Given the description of an element on the screen output the (x, y) to click on. 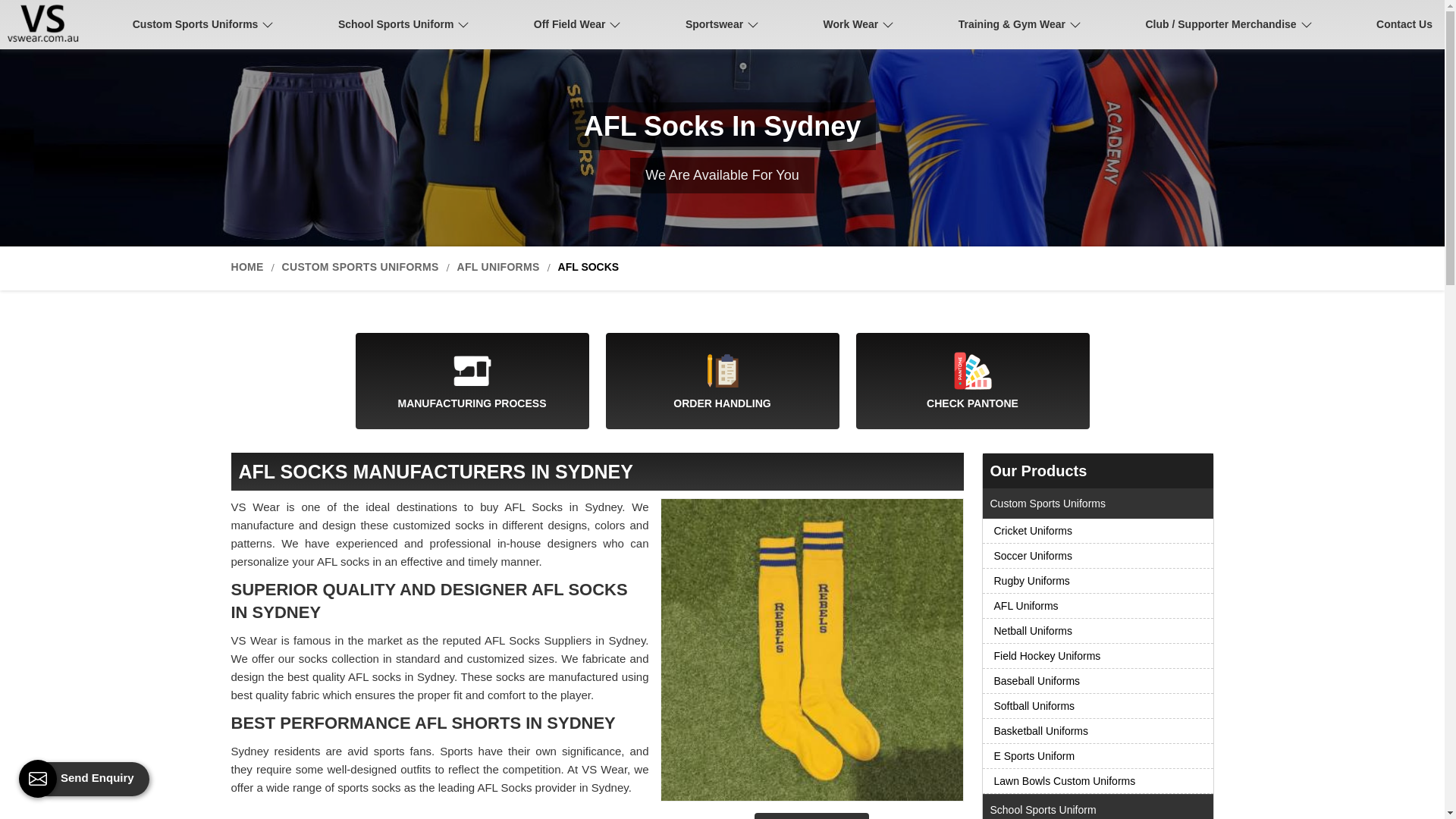
Custom Sports Uniforms  (203, 24)
VS Wear (48, 23)
Custom Sports Uniforms (203, 24)
VS Wear (45, 23)
